Given the description of an element on the screen output the (x, y) to click on. 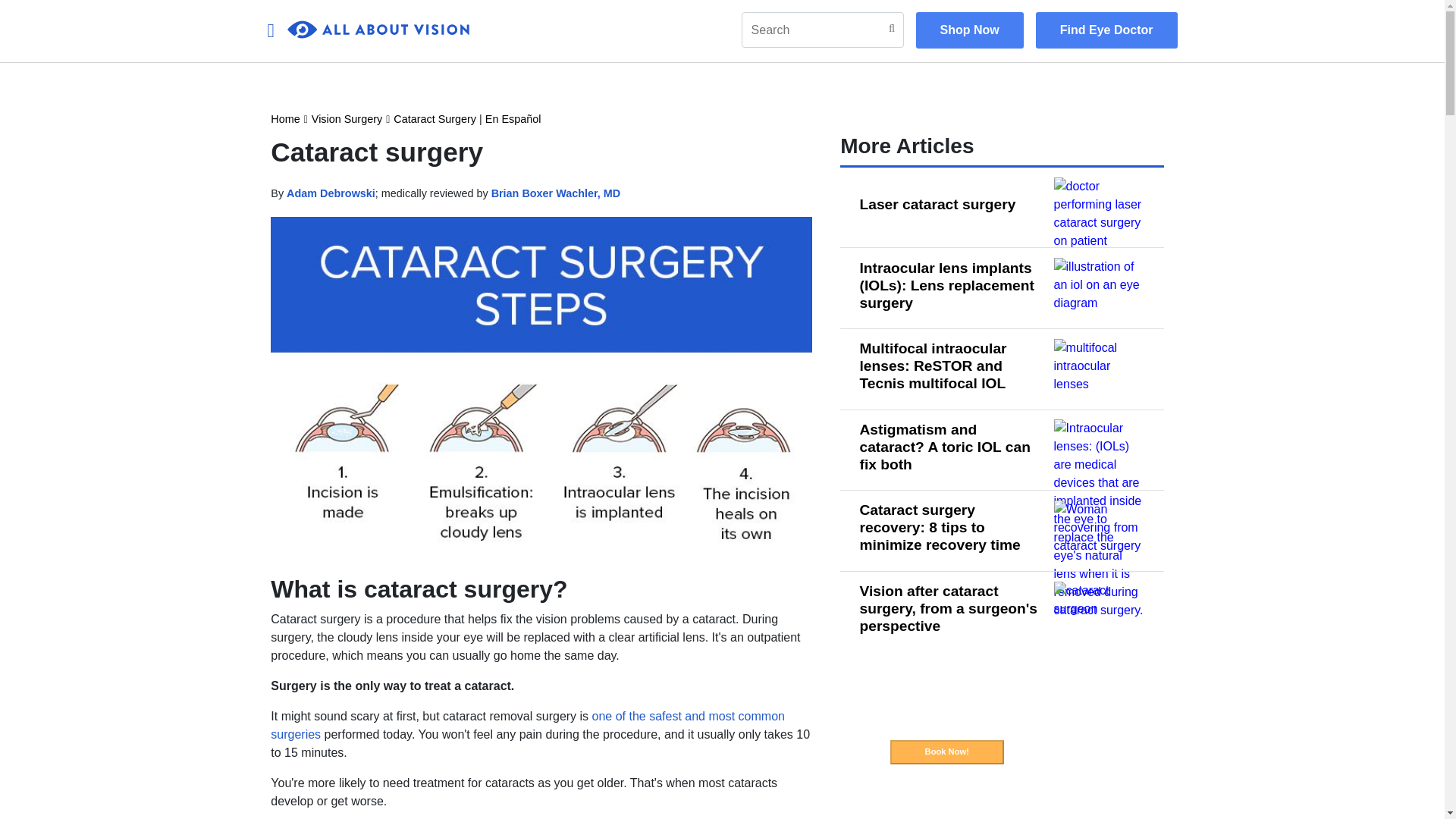
0 (377, 29)
one of the safest and most common surgeries (527, 725)
Find Eye Doctor (1106, 30)
0 (377, 30)
Shop Now (969, 30)
